Given the description of an element on the screen output the (x, y) to click on. 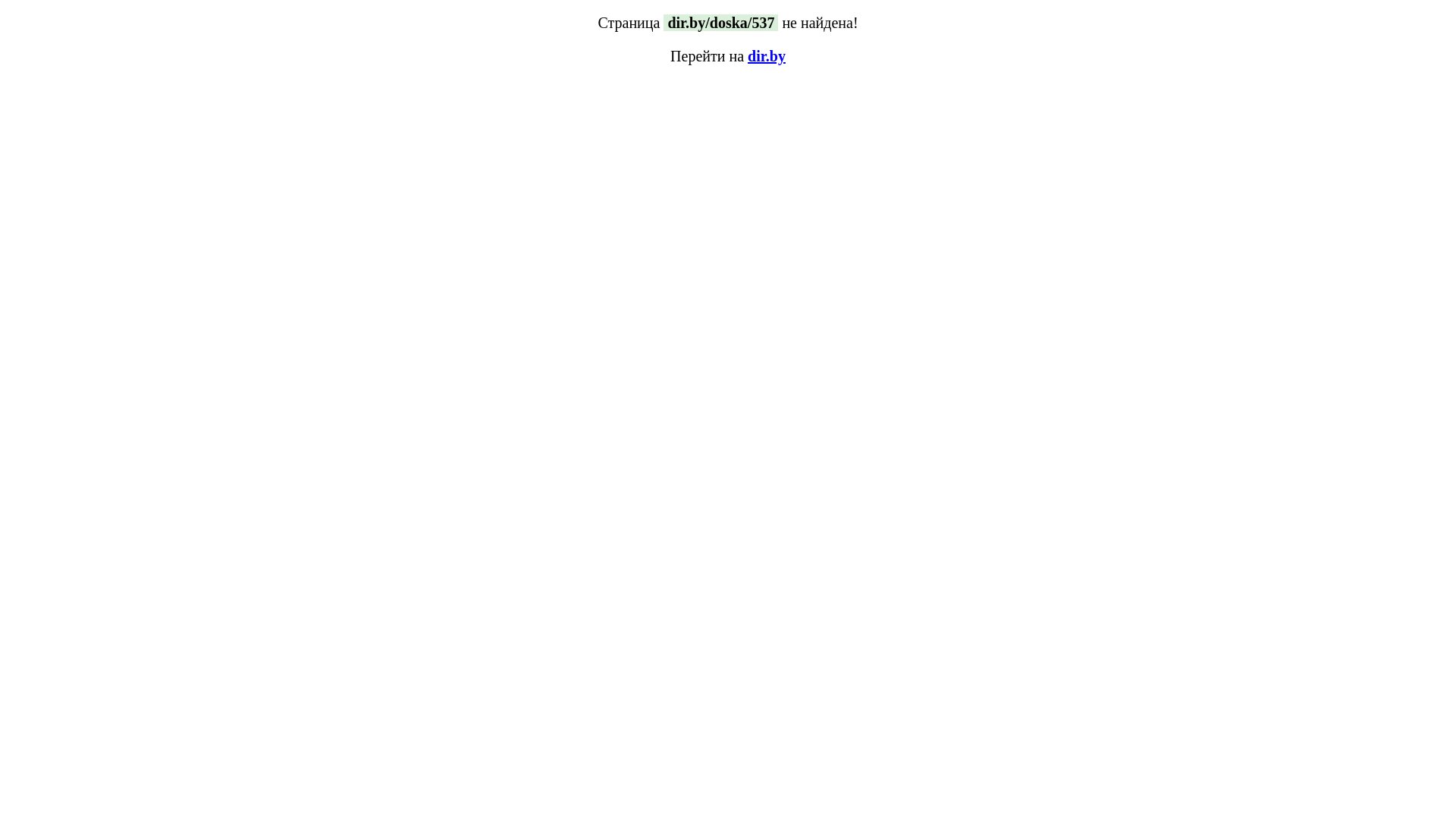
dir.by Element type: text (766, 55)
